Given the description of an element on the screen output the (x, y) to click on. 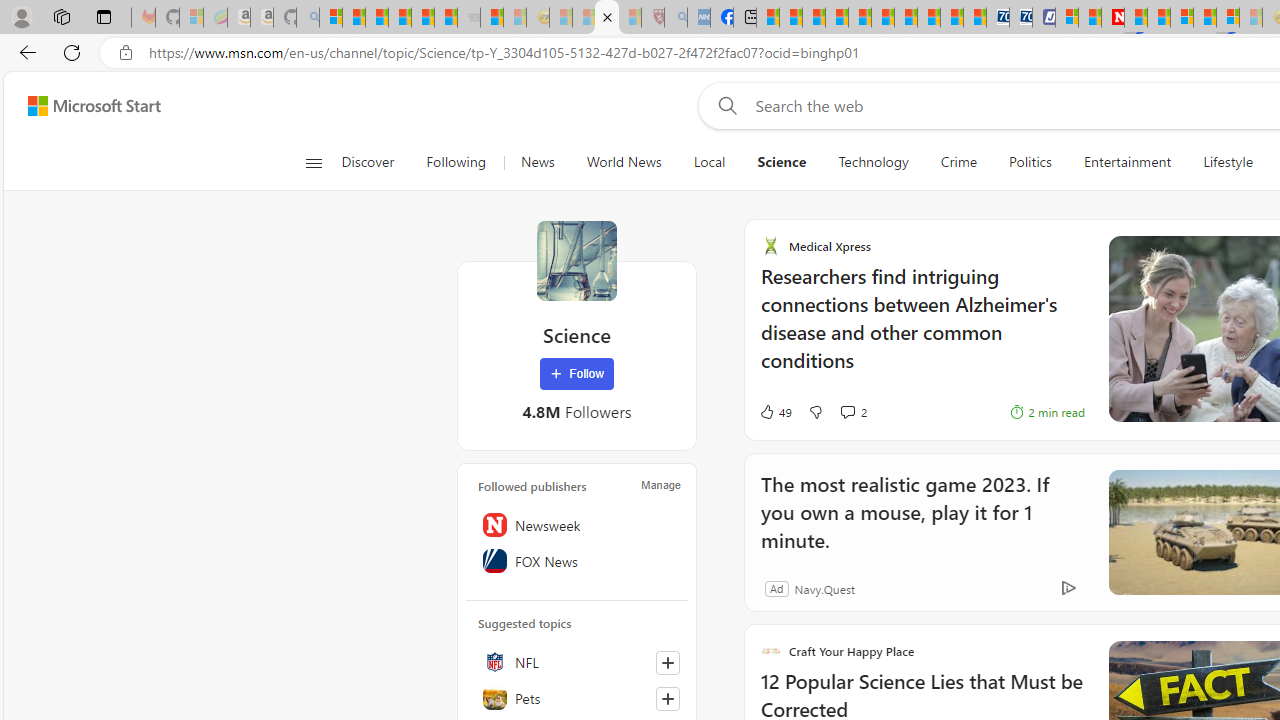
Science - MSN (607, 17)
New Report Confirms 2023 Was Record Hot | Watch (422, 17)
MSNBC - MSN (767, 17)
Cheap Hotels - Save70.com (1020, 17)
Stocks - MSN (445, 17)
